Given the description of an element on the screen output the (x, y) to click on. 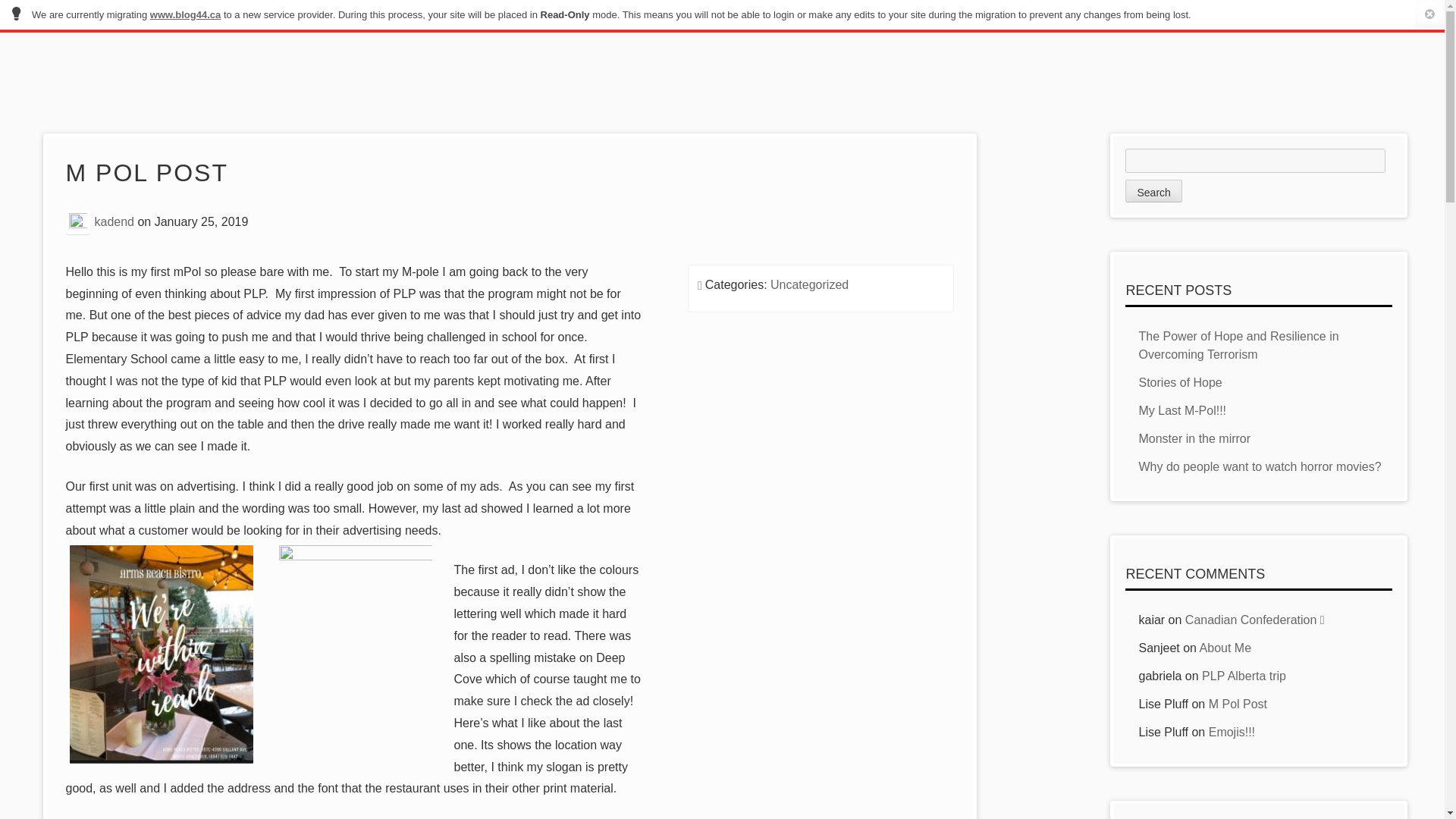
Monster in the mirror (1194, 438)
Search (1152, 190)
kadend (114, 220)
Uncategorized (809, 284)
The Power of Hope and Resilience in Overcoming Terrorism (1238, 345)
Stories of Hope (1179, 382)
Search (1152, 190)
Search (1152, 190)
Emojis!!! (1231, 731)
Why do people want to watch horror movies? (1259, 466)
